Given the description of an element on the screen output the (x, y) to click on. 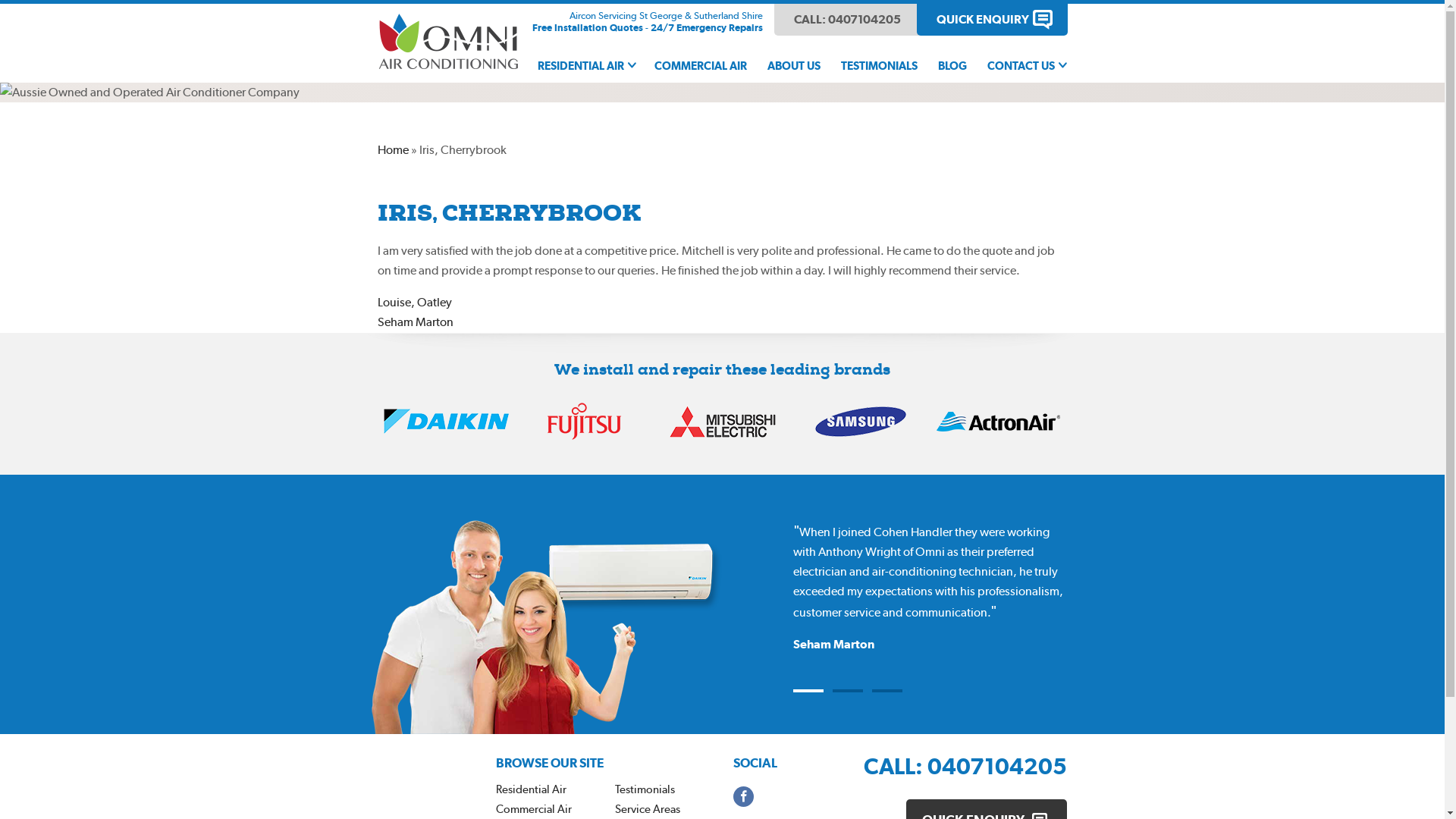
3 Element type: text (887, 690)
2 Element type: text (847, 690)
QUICK ENQUIRY Element type: text (991, 19)
ABOUT US Element type: text (793, 67)
BLOG Element type: text (951, 67)
Testimonials Element type: text (644, 789)
COMMERCIAL AIR Element type: text (699, 67)
TESTIMONIALS Element type: text (878, 67)
RESIDENTIAL AIR Element type: text (584, 67)
Residential Air Element type: text (530, 789)
Louise, Oatley Element type: text (414, 301)
Home Element type: text (392, 149)
Seham Marton Element type: text (415, 321)
CALL: 0407104205 Element type: text (964, 766)
1 Element type: text (808, 690)
Commercial Air Element type: text (533, 808)
CALL: 0407104205 Element type: text (846, 19)
CONTACT US Element type: text (1025, 67)
